Given the description of an element on the screen output the (x, y) to click on. 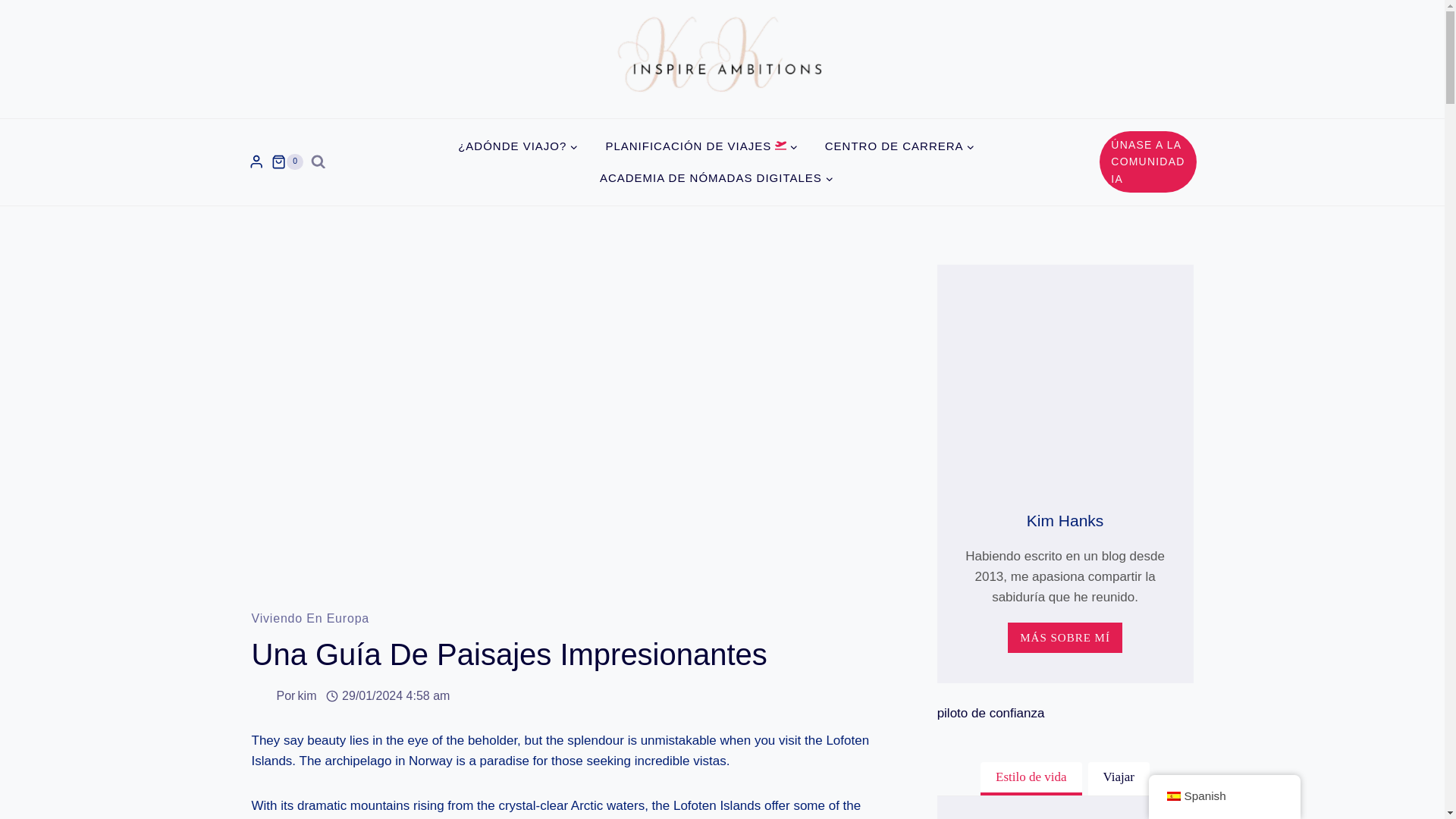
0 (286, 161)
Spanish (1172, 795)
